Given the description of an element on the screen output the (x, y) to click on. 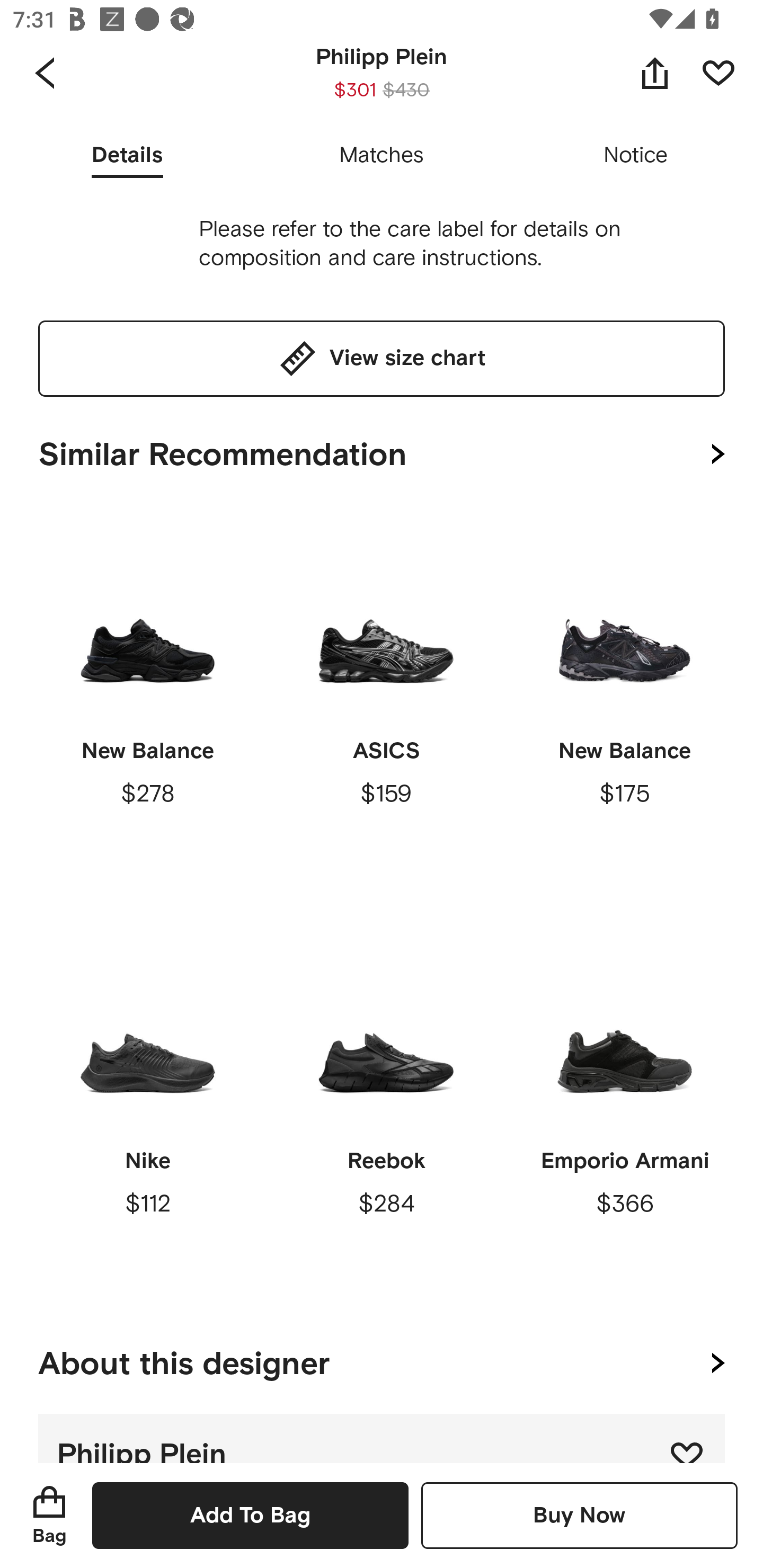
Matches (381, 155)
Notice (635, 155)
 View size chart (381, 357)
Similar Recommendation (381, 450)
New Balance $278 (147, 699)
ASICS $159 (385, 699)
New Balance $175 (624, 699)
Nike $112 (147, 1110)
Reebok $284 (385, 1110)
Emporio Armani $366 (624, 1110)
About this designer (381, 1360)
Philipp Plein (381, 1438)
Bag (49, 1515)
Add To Bag (250, 1515)
Buy Now (579, 1515)
